Given the description of an element on the screen output the (x, y) to click on. 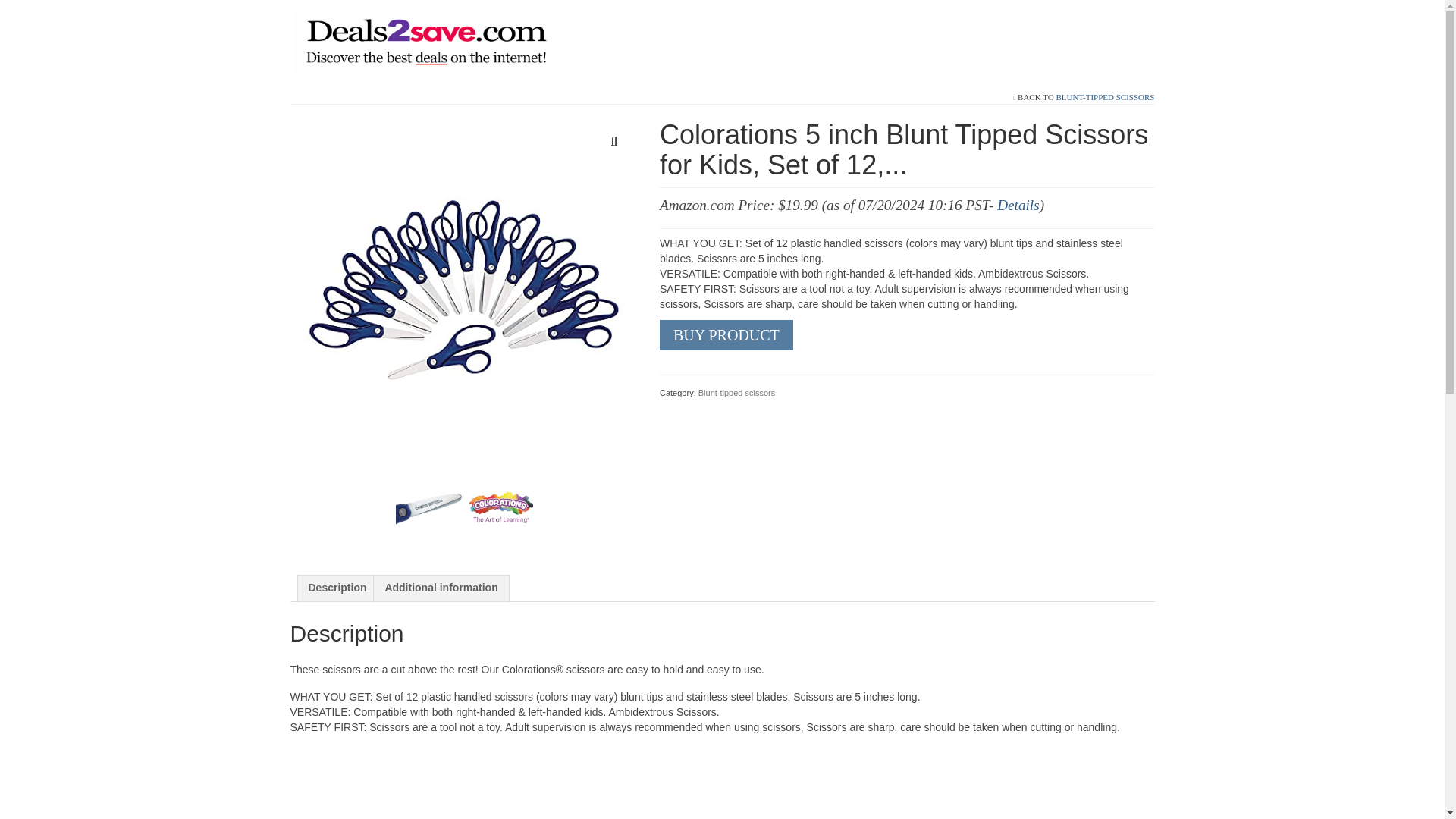
Blunt-tipped scissors (737, 392)
BLUNT-TIPPED SCISSORS (1104, 96)
Details (1018, 204)
BUY PRODUCT (726, 335)
Additional information (440, 588)
Description (336, 588)
